Given the description of an element on the screen output the (x, y) to click on. 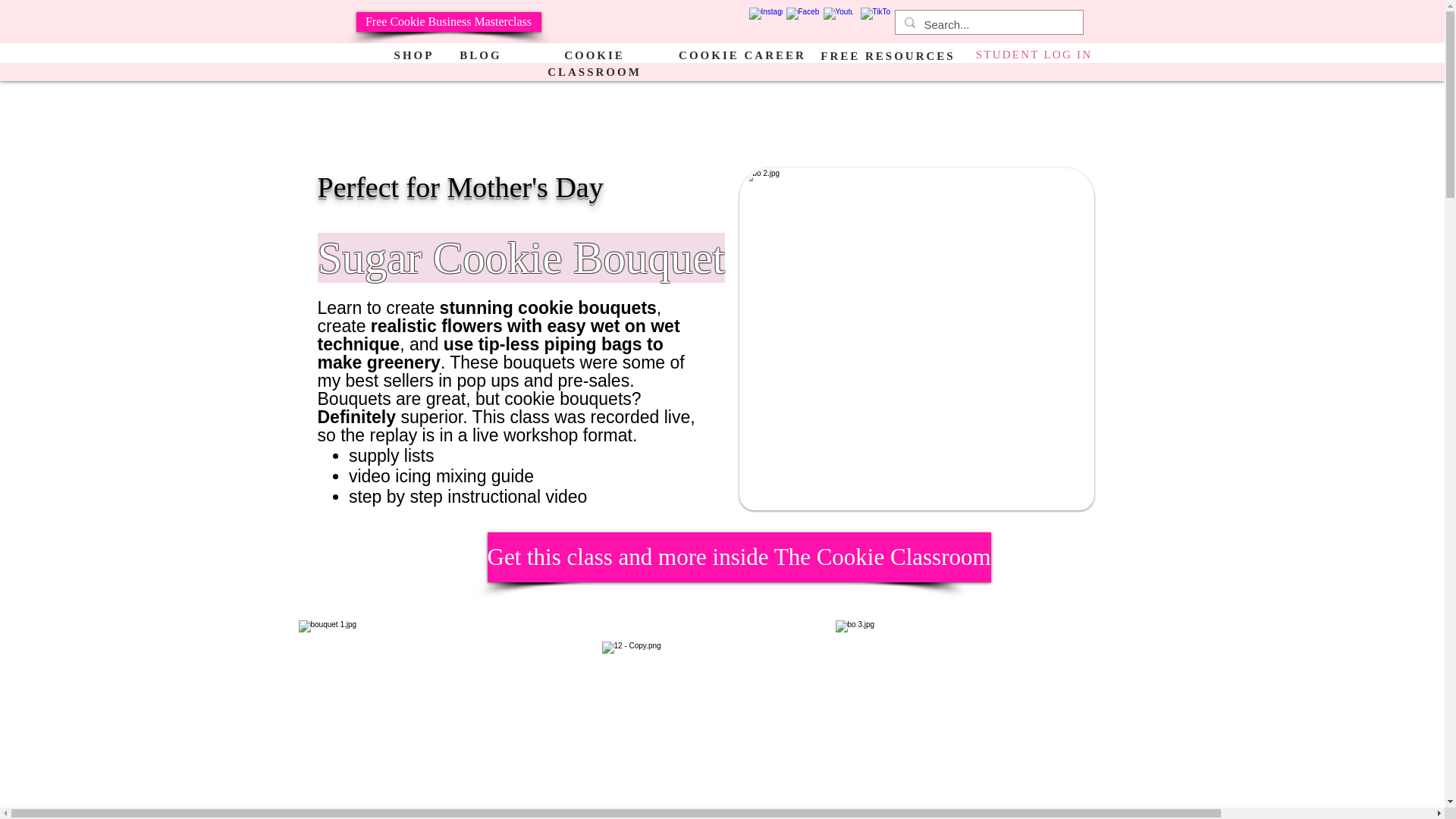
STUDENT LOG IN (1034, 54)
FREE RESOURCES (888, 54)
SHOP (413, 54)
COOKIE CAREER (742, 54)
COOKIE CLASSROOM (594, 62)
Get this class and more inside The Cookie Classroom (738, 557)
Free Cookie Business Masterclass (448, 21)
BLOG (480, 54)
